Given the description of an element on the screen output the (x, y) to click on. 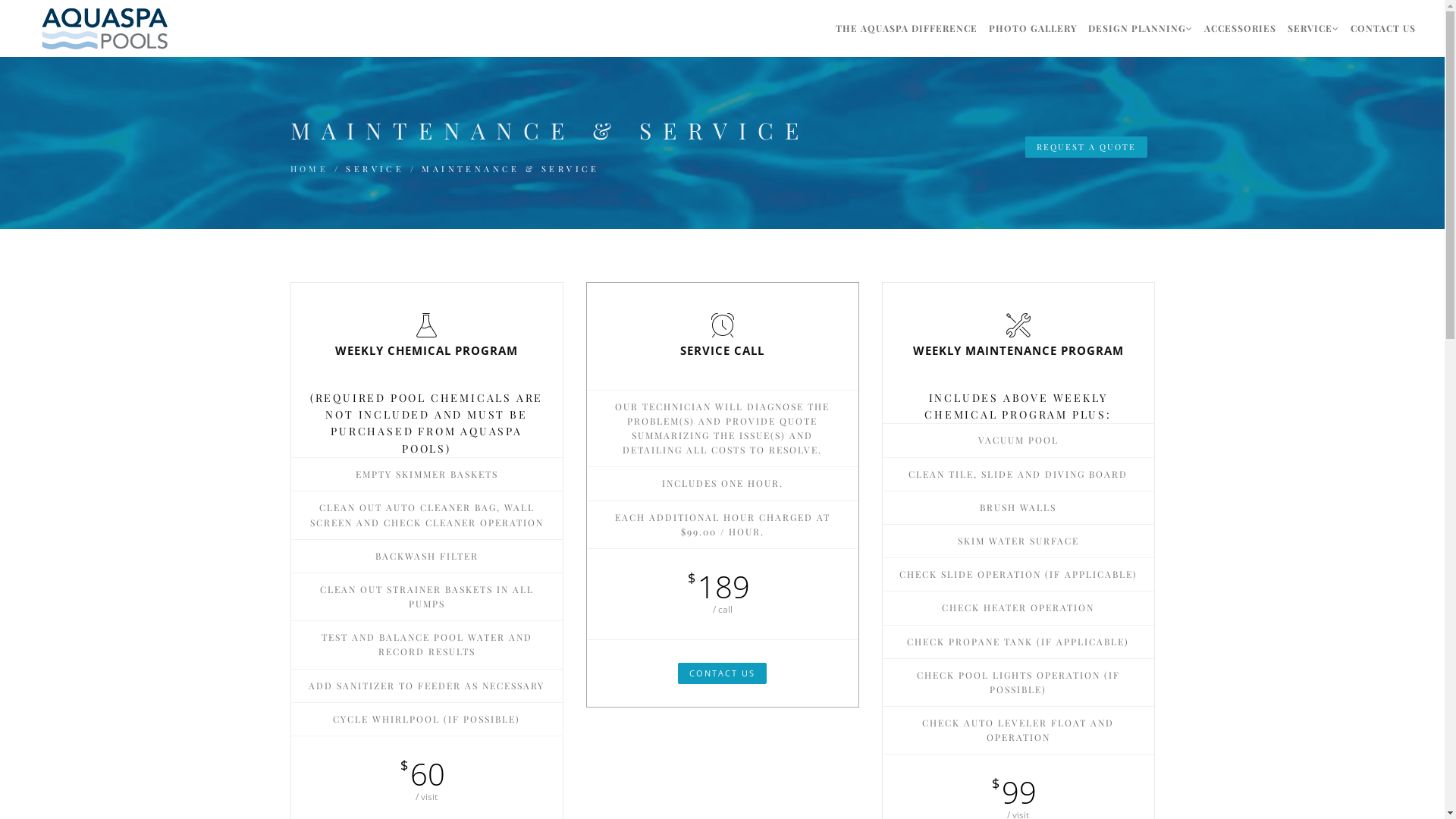
DESIGN PLANNING Element type: text (1140, 28)
REQUEST A QUOTE Element type: text (1086, 146)
PHOTO GALLERY Element type: text (1032, 28)
CONTACT US Element type: text (721, 673)
ACCESSORIES Element type: text (1240, 28)
THE AQUASPA DIFFERENCE Element type: text (906, 28)
SERVICE Element type: text (1313, 28)
HOME Element type: text (308, 169)
CONTACT US Element type: text (1382, 28)
